Given the description of an element on the screen output the (x, y) to click on. 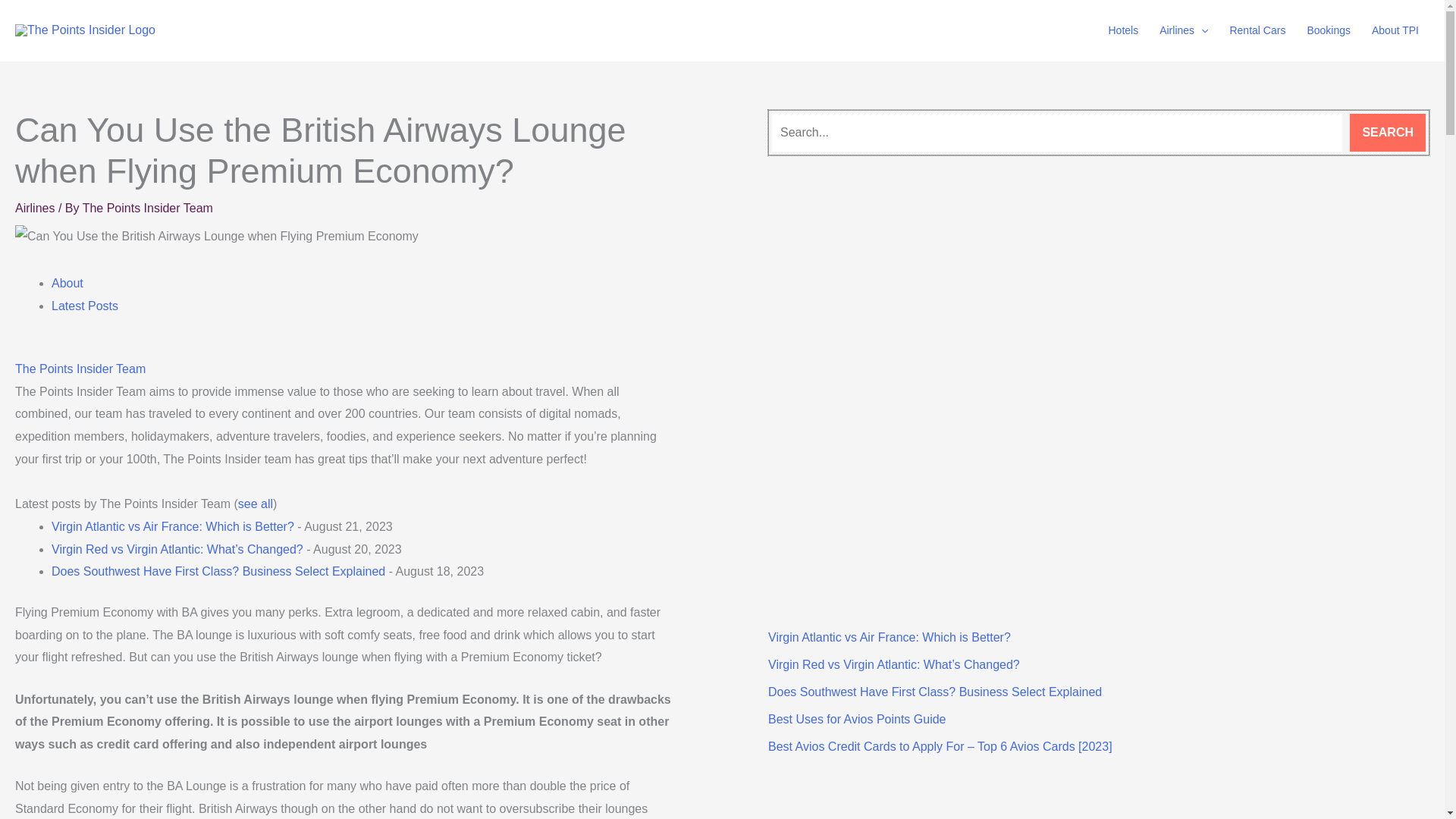
see all (255, 503)
Virgin Atlantic vs Air France: Which is Better? (889, 636)
About TPI (1395, 30)
Airlines (1183, 30)
The Points Insider Team (79, 368)
Best Uses for Avios Points Guide (856, 718)
Does Southwest Have First Class? Business Select Explained (935, 691)
Virgin Atlantic vs Air France: Which is Better? (172, 526)
Does Southwest Have First Class? Business Select Explained (217, 571)
About (66, 282)
Latest Posts (83, 305)
Airlines (34, 207)
SEARCH (1387, 132)
Bookings (1328, 30)
